Given the description of an element on the screen output the (x, y) to click on. 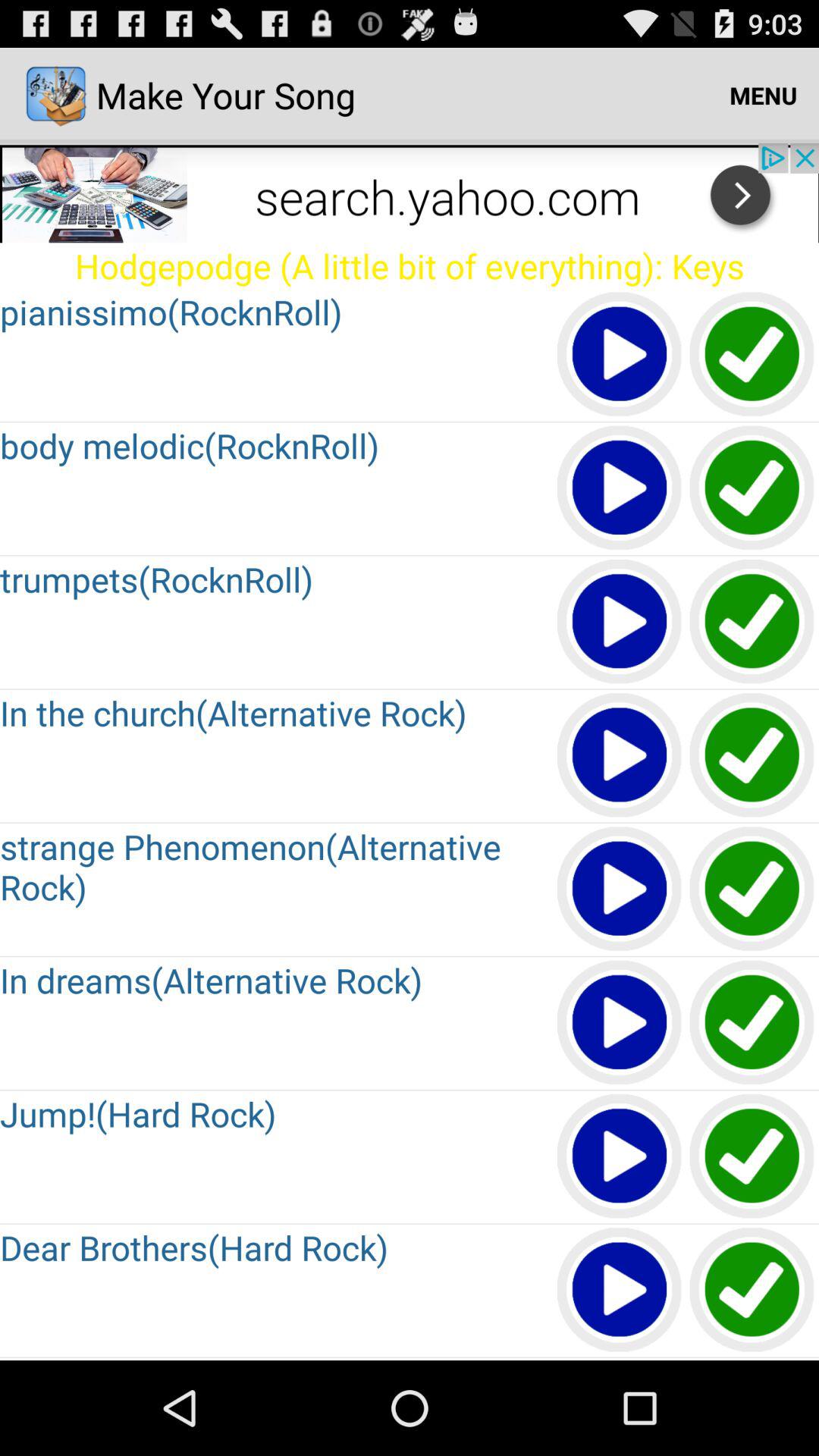
play this song (619, 354)
